Given the description of an element on the screen output the (x, y) to click on. 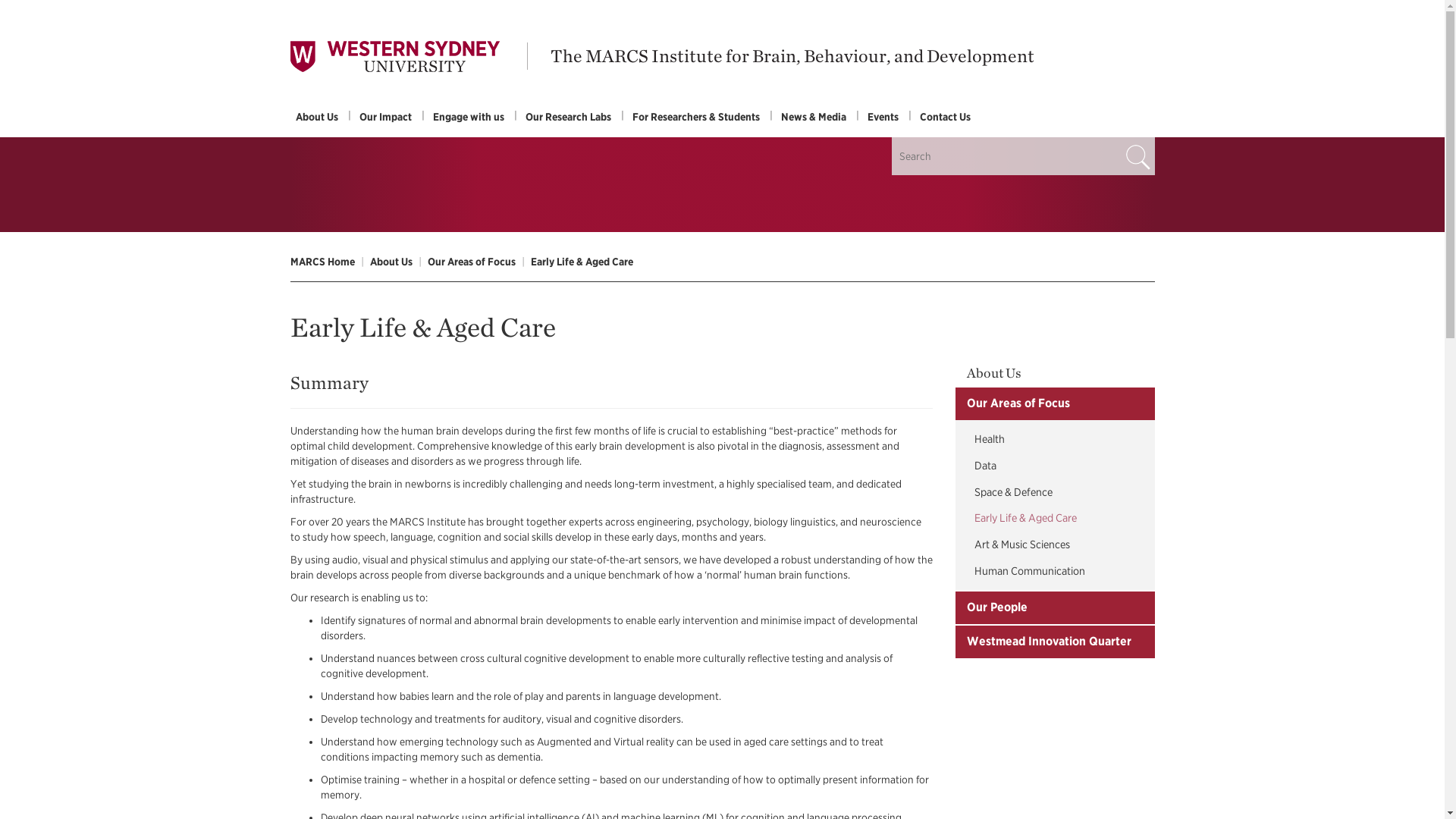
Our Research Labs (568, 116)
Our Impact (384, 116)
Engage with us (469, 116)
About Us (316, 116)
The MARCS Institute for Brain, Behaviour, and Development (791, 55)
